Given the description of an element on the screen output the (x, y) to click on. 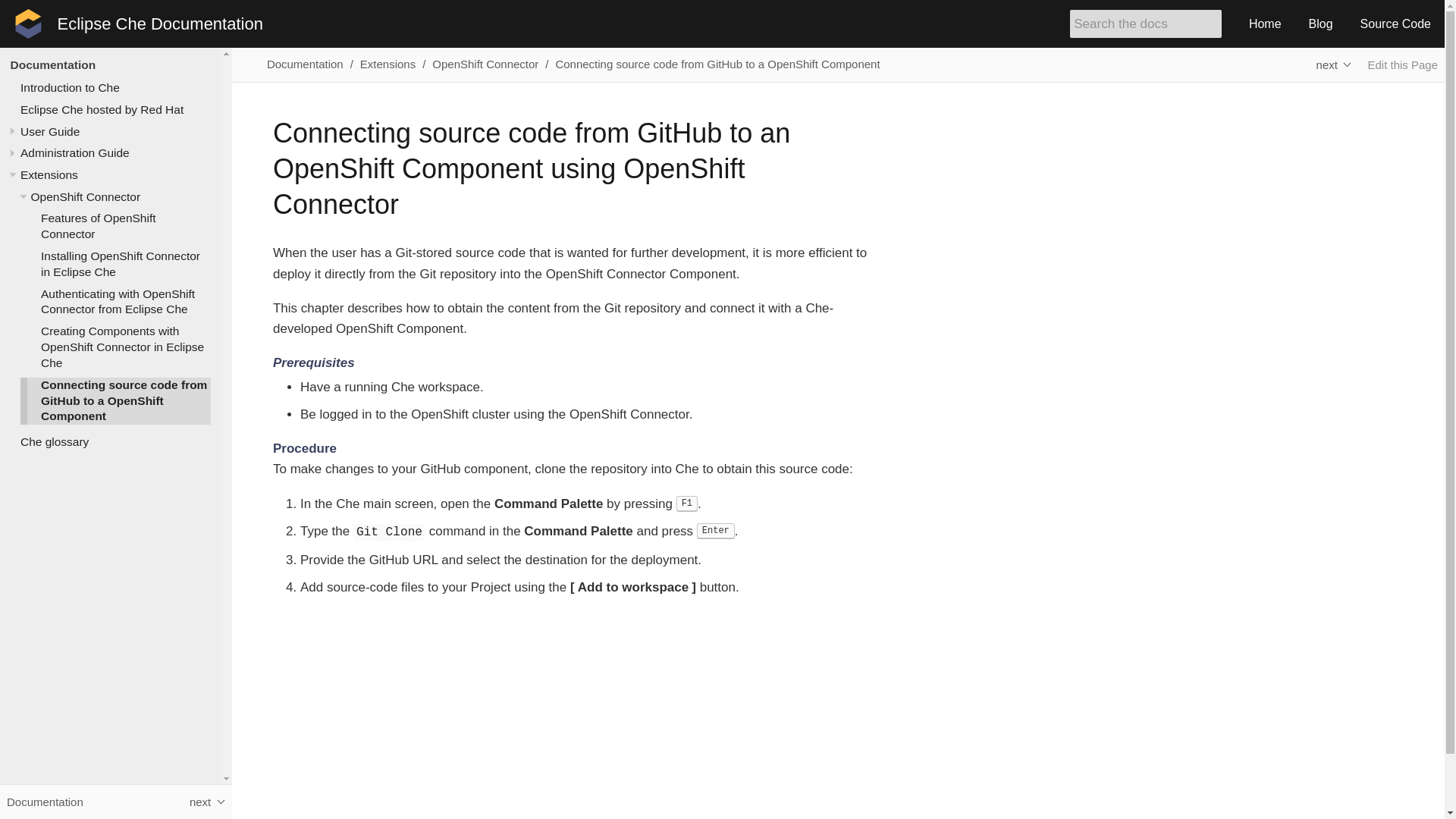
Documentation (53, 64)
Blog (1320, 23)
Eclipse Che Documentation (160, 23)
Show other versions of page (1333, 64)
Introduction to Che (69, 87)
Eclipse Che hosted by Red Hat (101, 109)
Home (1264, 23)
